Given the description of an element on the screen output the (x, y) to click on. 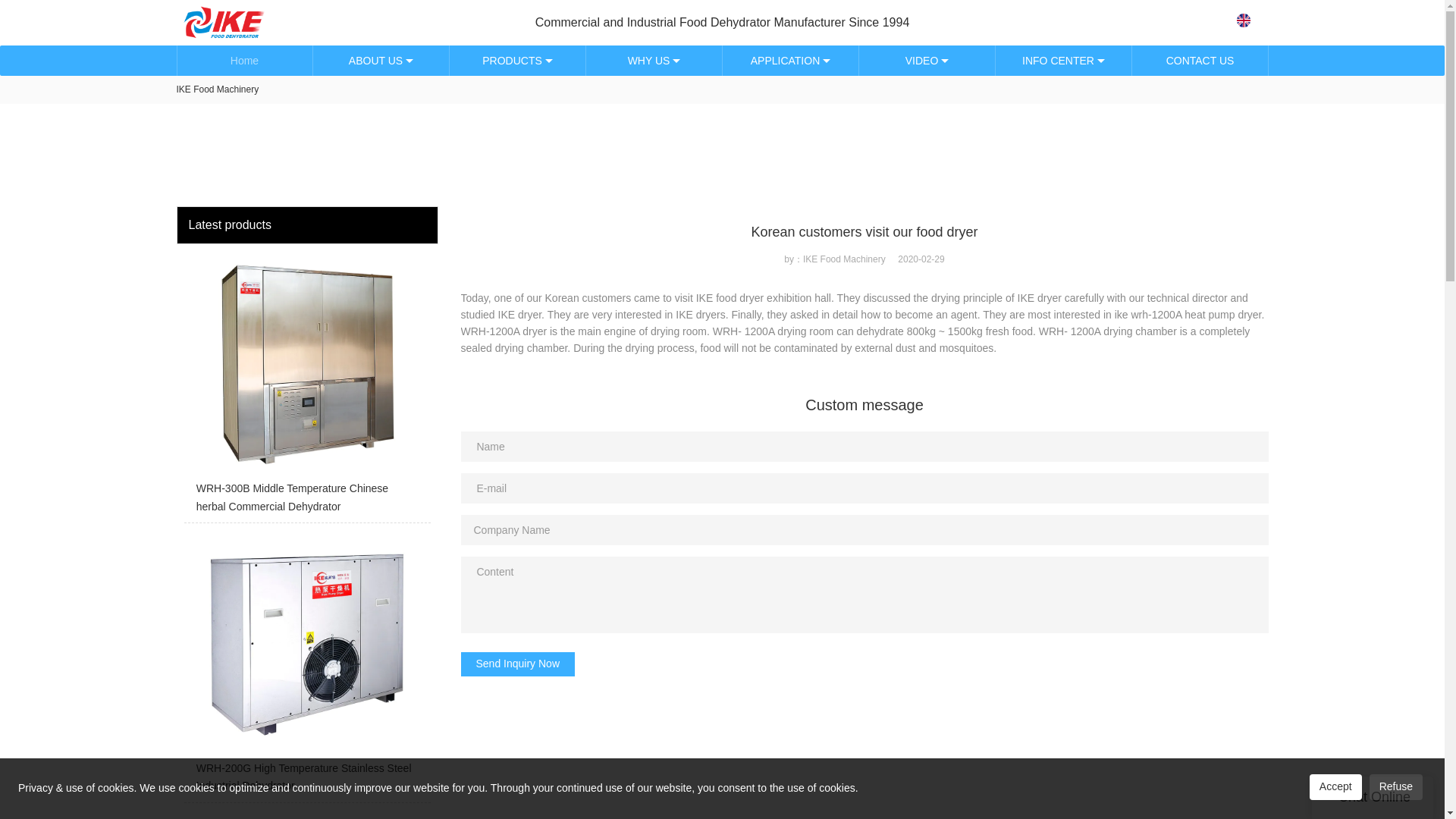
Home (244, 60)
WHY US (653, 60)
PRODUCTS (516, 60)
APPLICATION (790, 60)
VIDEO (926, 60)
ABOUT US (380, 60)
